Given the description of an element on the screen output the (x, y) to click on. 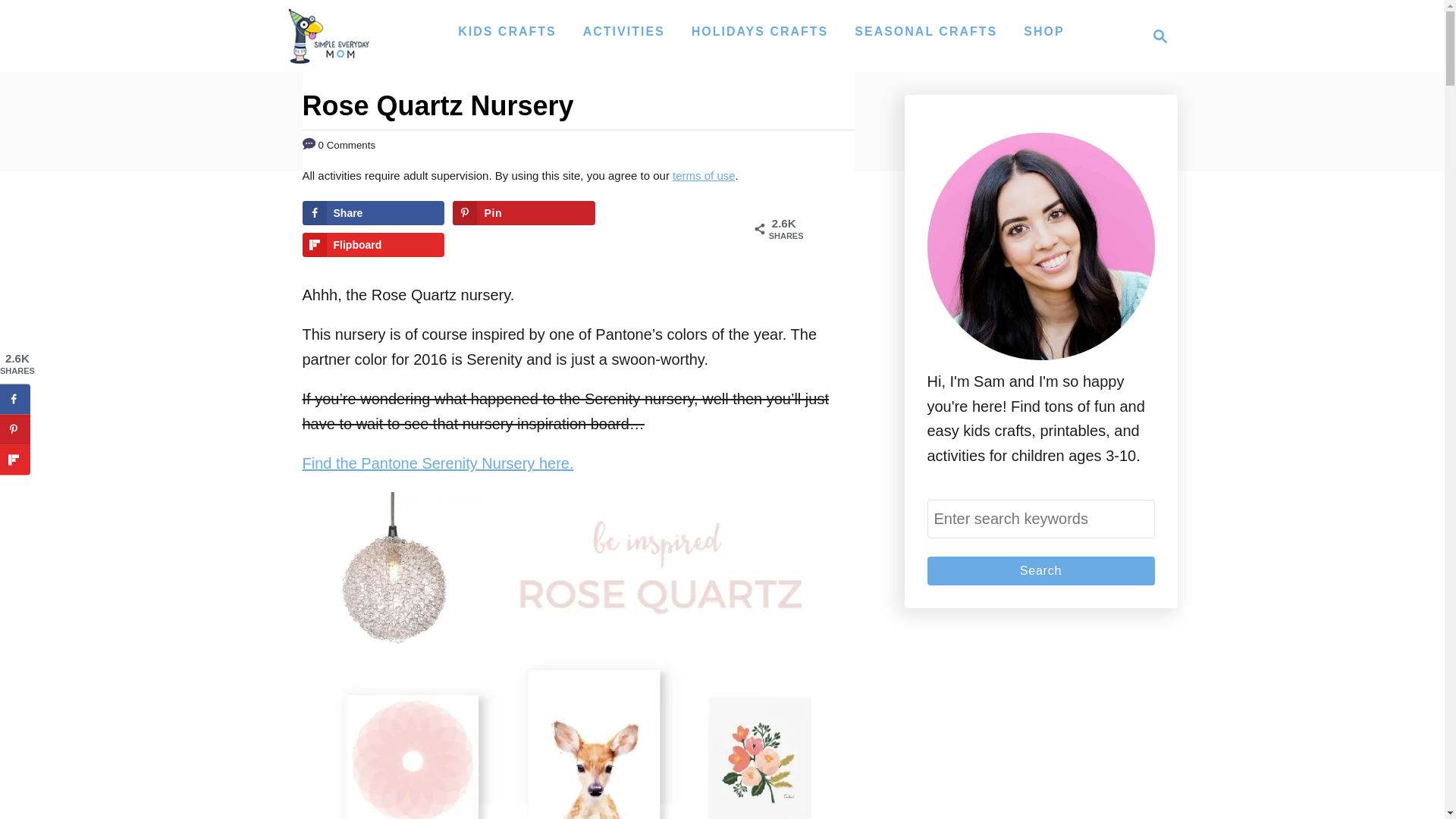
Magnifying Glass (1160, 36)
KIDS CRAFTS (506, 31)
ACTIVITIES (623, 31)
HOLIDAYS CRAFTS (759, 31)
Share on Flipboard (372, 244)
Search (1040, 570)
Search (1155, 36)
Save to Pinterest (1040, 570)
Search for: (523, 212)
Simple Everyday Mom (1040, 518)
Share on Facebook (328, 35)
